Given the description of an element on the screen output the (x, y) to click on. 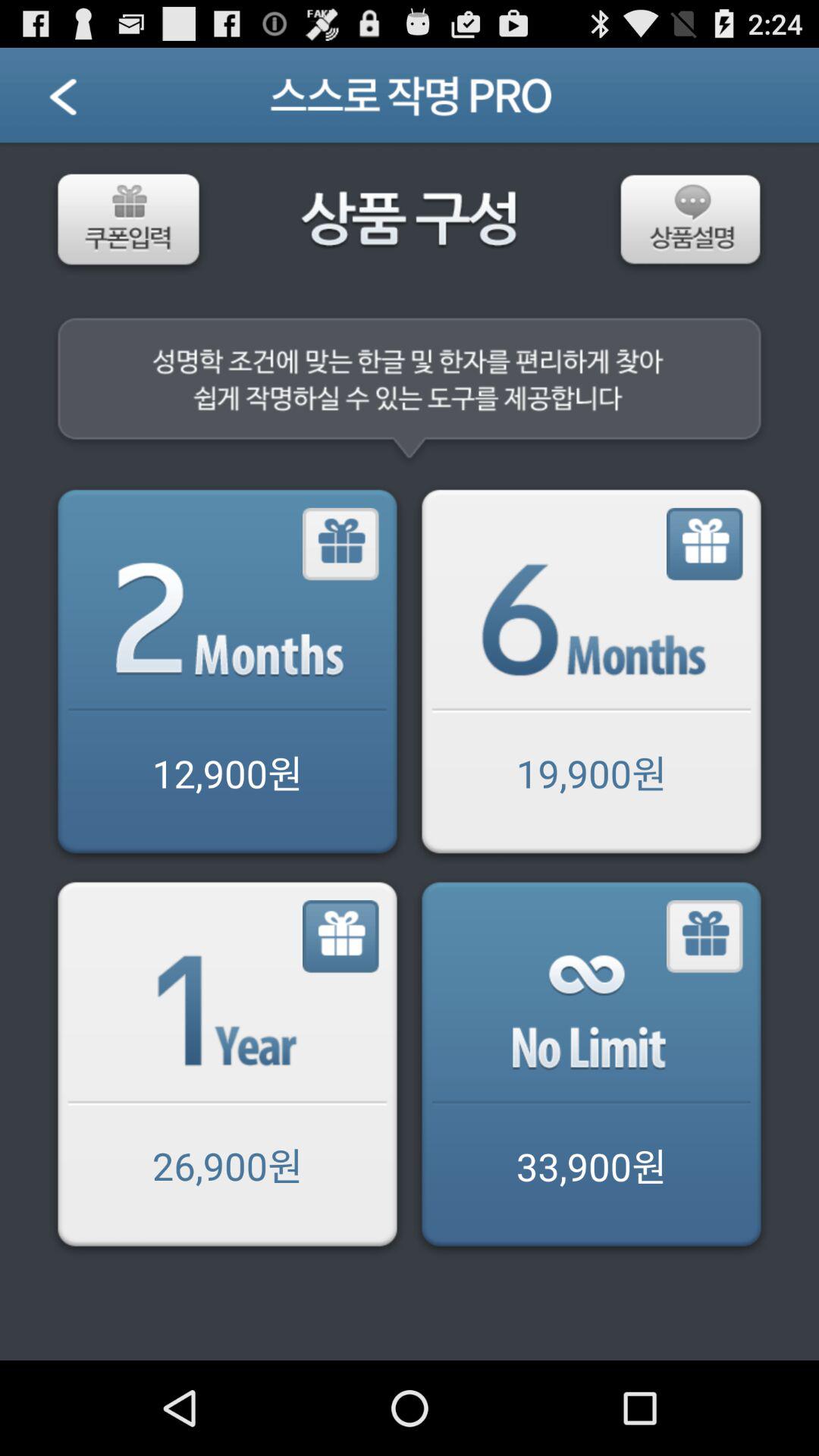
select the gift box (340, 936)
